Given the description of an element on the screen output the (x, y) to click on. 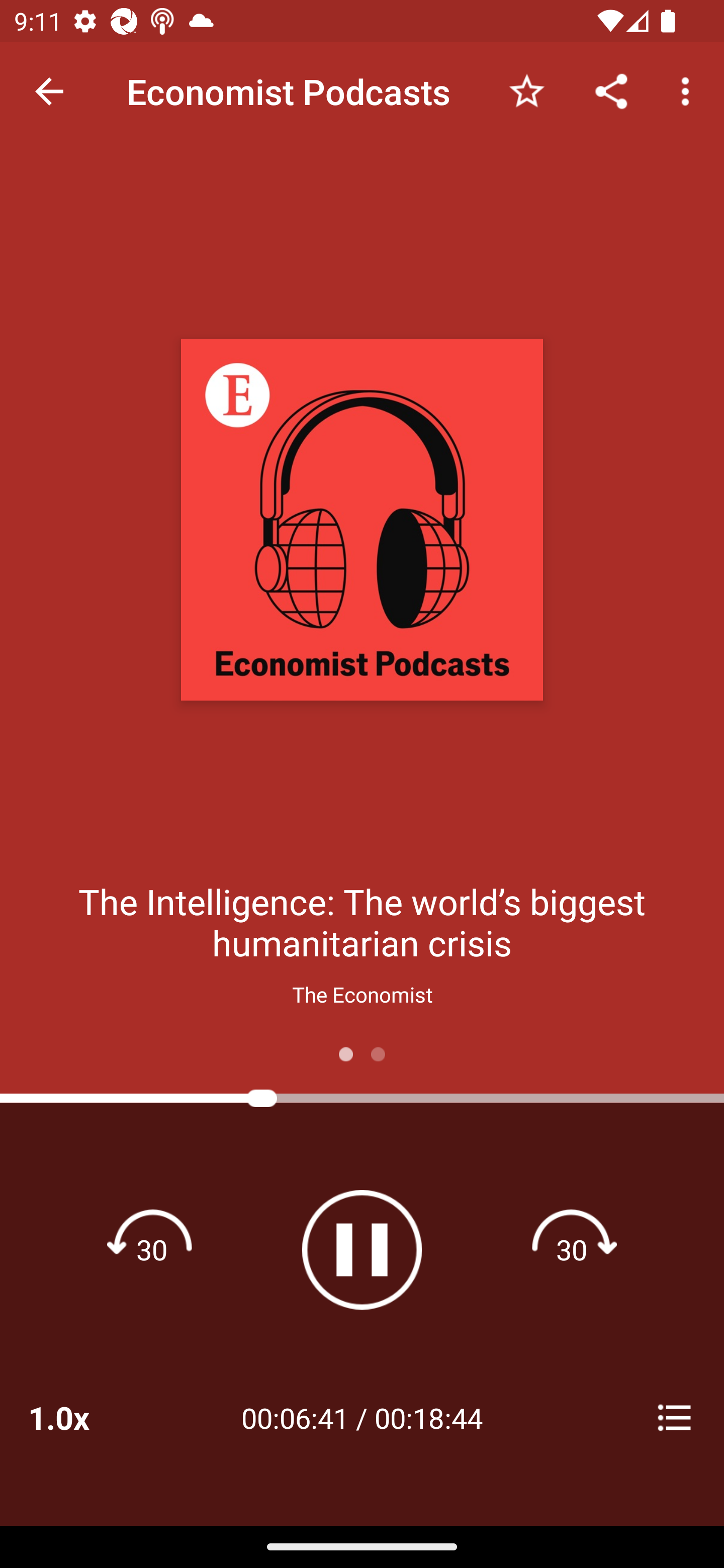
Navigate up (49, 91)
Add to Favorites (526, 90)
Share... (611, 90)
More options (688, 90)
The Economist (361, 994)
Pause (361, 1249)
Rewind (151, 1249)
Fast forward (571, 1249)
1.0x Playback Speeds (84, 1417)
00:18:44 (428, 1417)
